Given the description of an element on the screen output the (x, y) to click on. 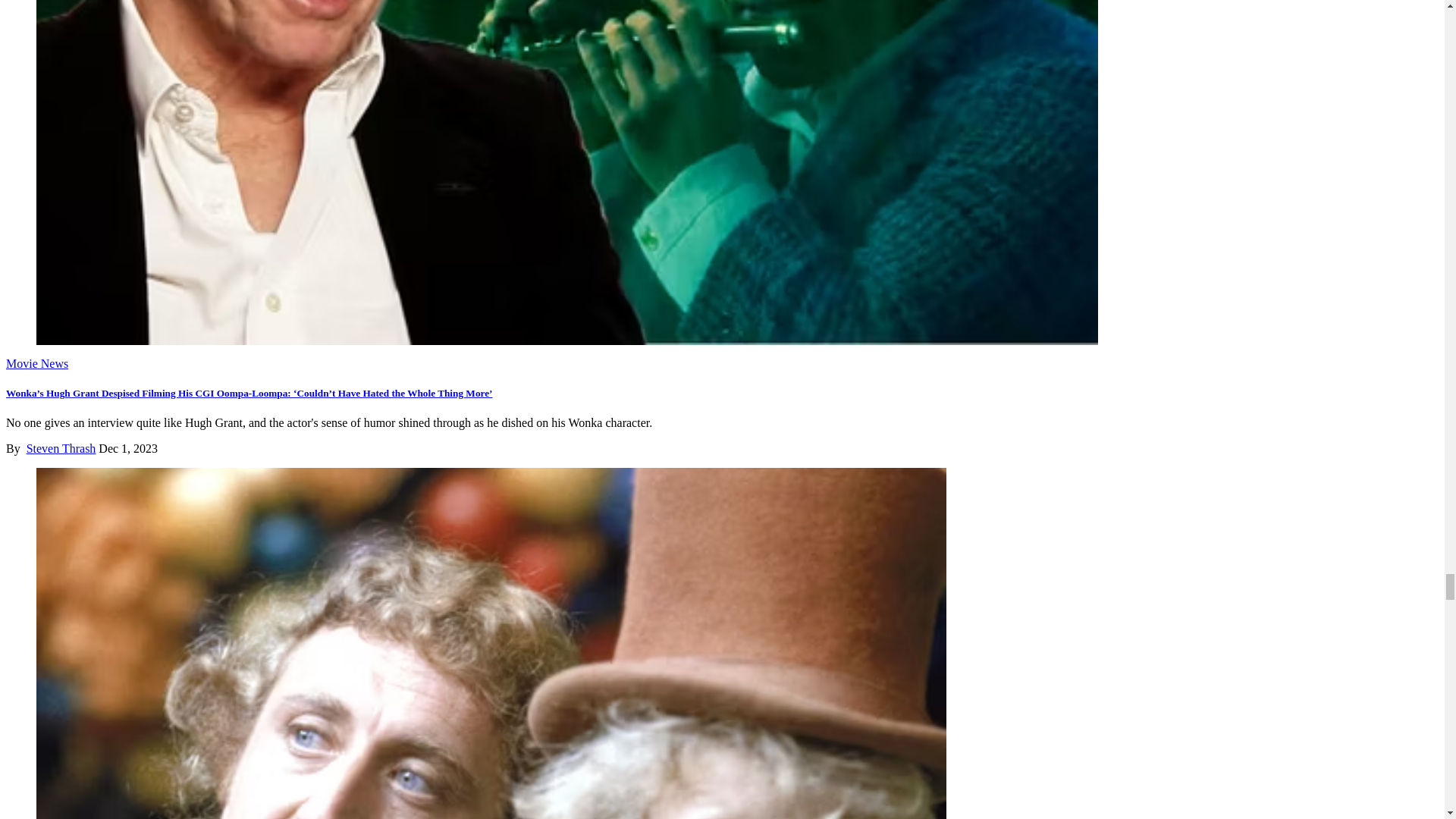
Posts by Steven Thrash (61, 448)
